Given the description of an element on the screen output the (x, y) to click on. 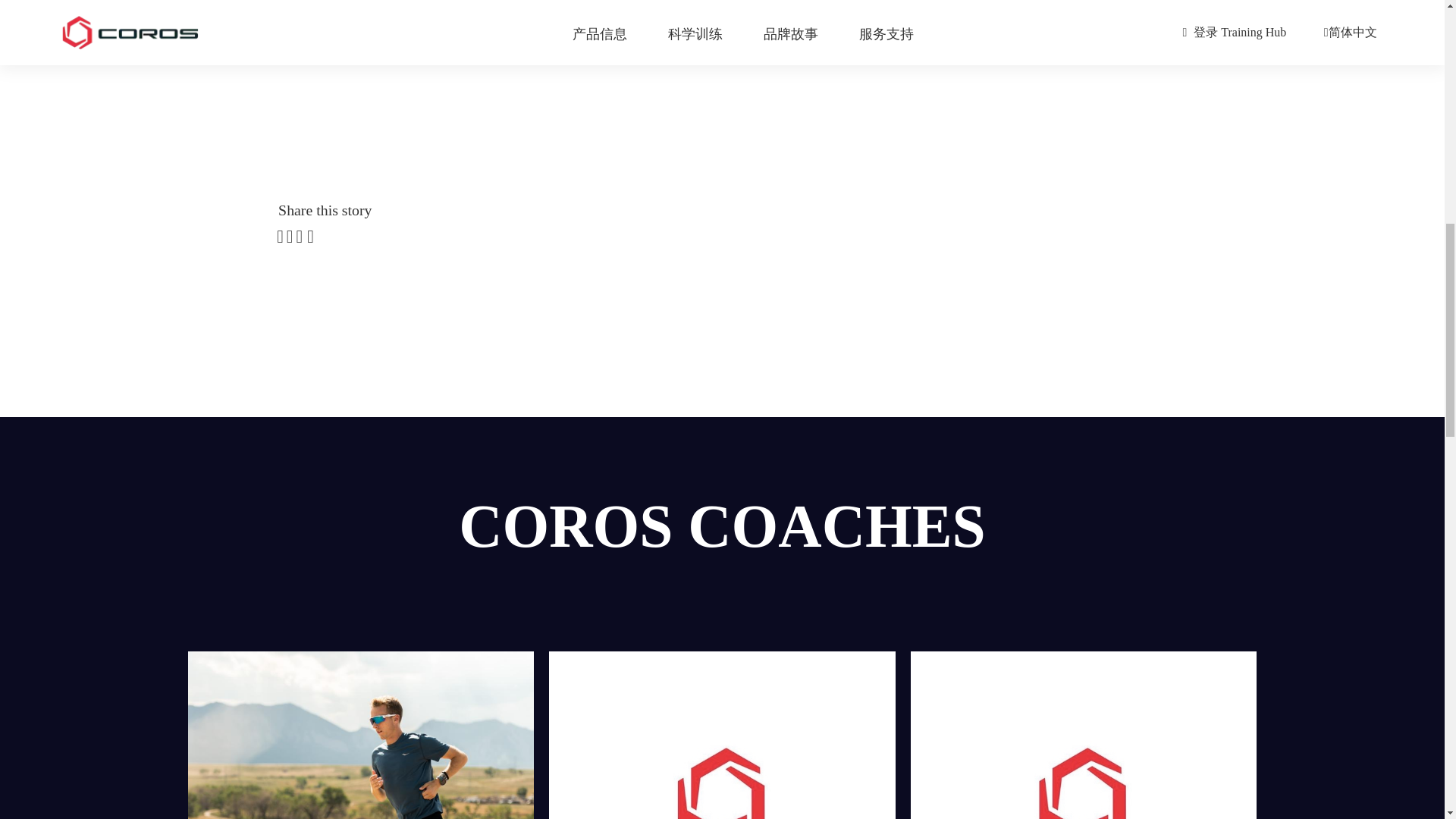
share to twitter (290, 237)
open mail (299, 237)
share to facebook (280, 237)
copy link (310, 237)
